Given the description of an element on the screen output the (x, y) to click on. 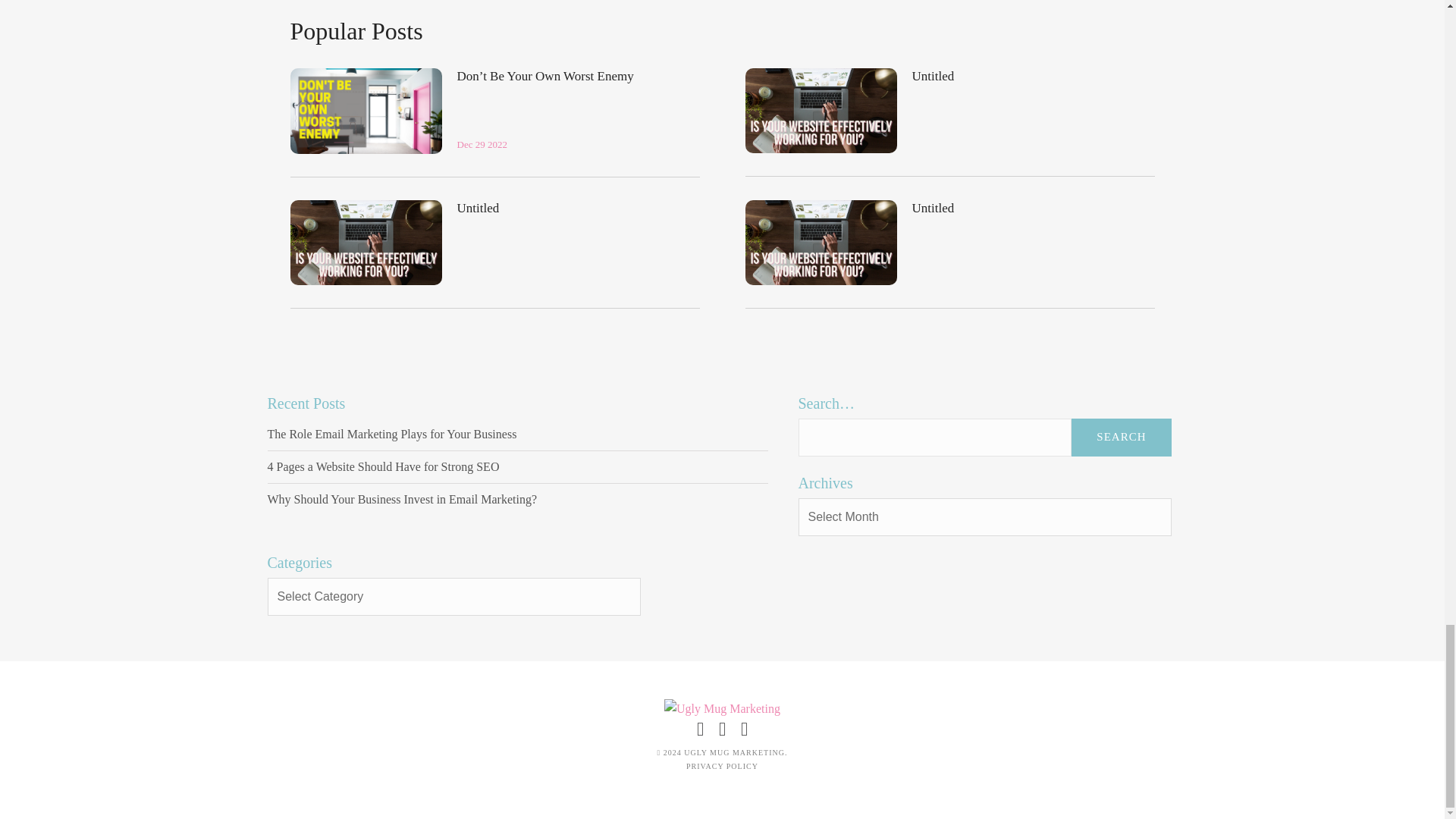
Untitled (932, 207)
Untitled (820, 242)
Search (1120, 437)
Untitled (820, 110)
Search (1120, 437)
4 Pages a Website Should Have for Strong SEO (516, 467)
The Role Email Marketing Plays for Your Business (516, 434)
Untitled (478, 207)
Untitled (932, 75)
PRIVACY POLICY (721, 766)
